Given the description of an element on the screen output the (x, y) to click on. 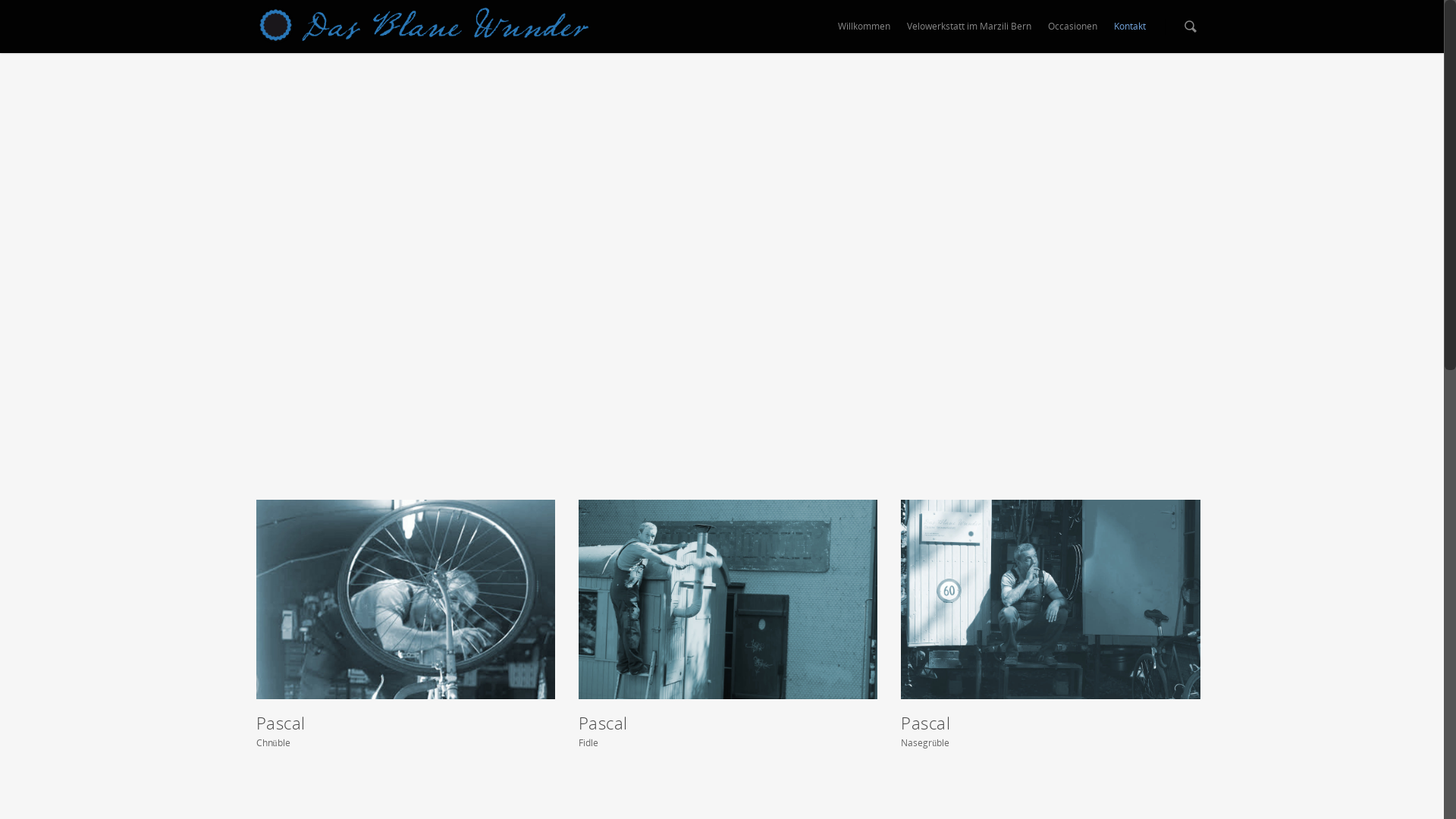
Velowerkstatt im Marzili Bern Element type: text (968, 30)
Kontakt Element type: text (1128, 30)
Pascal Element type: hover (727, 599)
Pascal Element type: hover (1049, 599)
Pascal Element type: hover (405, 599)
Occasionen Element type: text (1072, 30)
Willkommen Element type: text (863, 30)
